Given the description of an element on the screen output the (x, y) to click on. 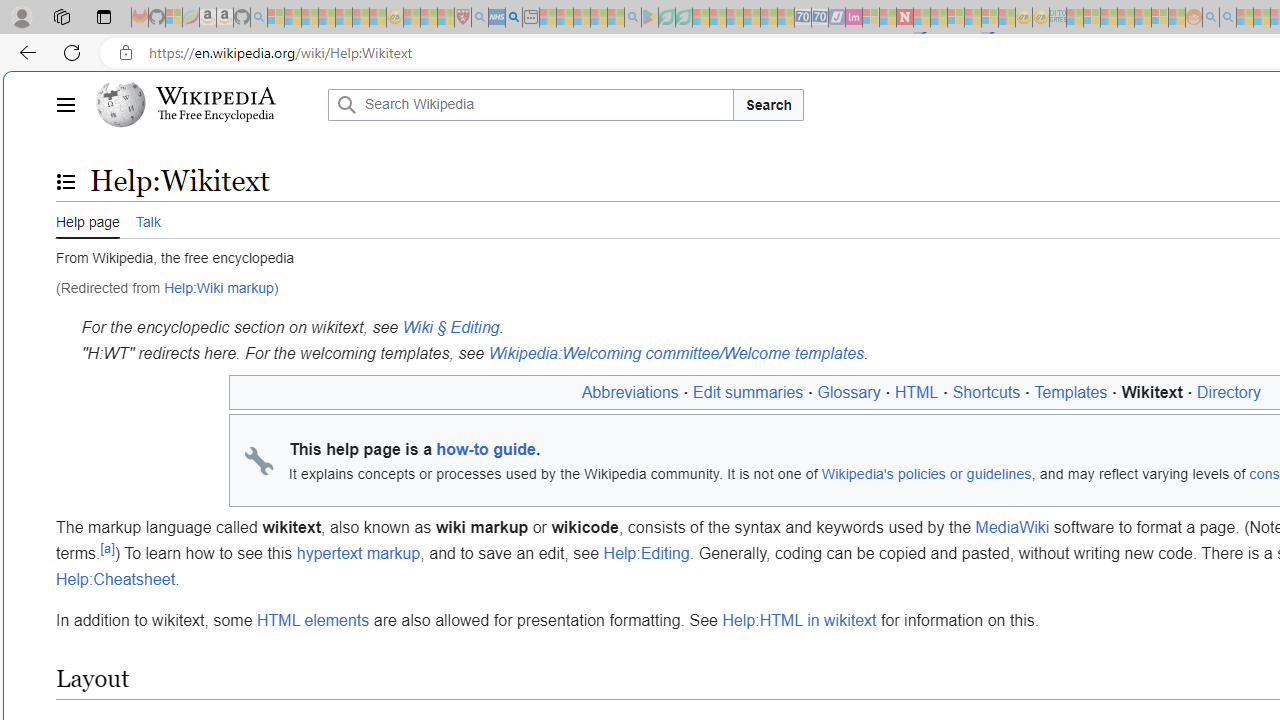
Talk (147, 219)
Wikipedia The Free Encyclopedia (206, 104)
Toggle the table of contents (65, 181)
Help:Cheatsheet (116, 579)
